Given the description of an element on the screen output the (x, y) to click on. 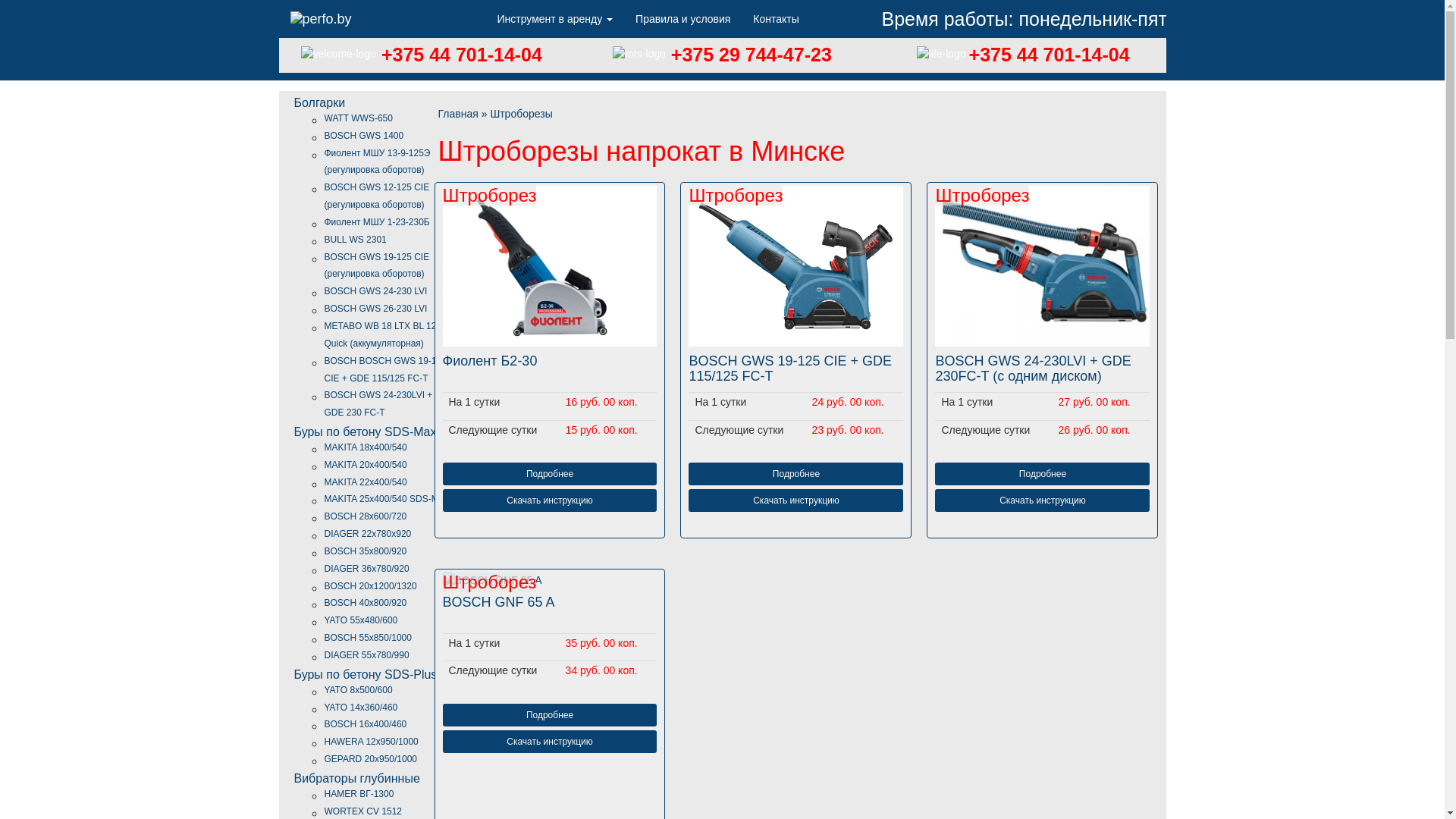
WATT WWS-650 Element type: text (358, 117)
+375 44 701-14-04 Element type: text (1049, 54)
BOSCH GWS 19-125 CIE + GDE 115/125 FC-T Element type: text (795, 369)
MAKITA 22x400/540 Element type: text (365, 481)
BOSCH BOSCH GWS 19-125 CIE + GDE 115/125 FC-T Element type: text (385, 369)
HAWERA 12x950/1000 Element type: text (371, 741)
+375 44 701-14-04 Element type: text (459, 54)
DIAGER 55x780/990 Element type: text (366, 654)
BOSCH 35x800/920 Element type: text (365, 551)
BOSCH GNF 65 A Element type: text (549, 610)
MAKITA 20x400/540 Element type: text (365, 464)
BULL WS 2301 Element type: text (355, 239)
YATO 8x500/600 Element type: text (358, 689)
BOSCH GWS 26-230 LVI Element type: text (375, 308)
MAKITA 18x400/540 Element type: text (365, 447)
BOSCH GWS 24-230 LVI Element type: text (375, 290)
BOSCH GWS 1400 Element type: text (364, 135)
+375 29 744-47-23 Element type: text (748, 54)
BOSCH GWS 24-230LVI + GDE 230 FC-T Element type: text (378, 403)
MAKITA 25x400/540 SDS-Max Element type: text (386, 498)
WORTEX CV 1512 Element type: text (362, 811)
